Given the description of an element on the screen output the (x, y) to click on. 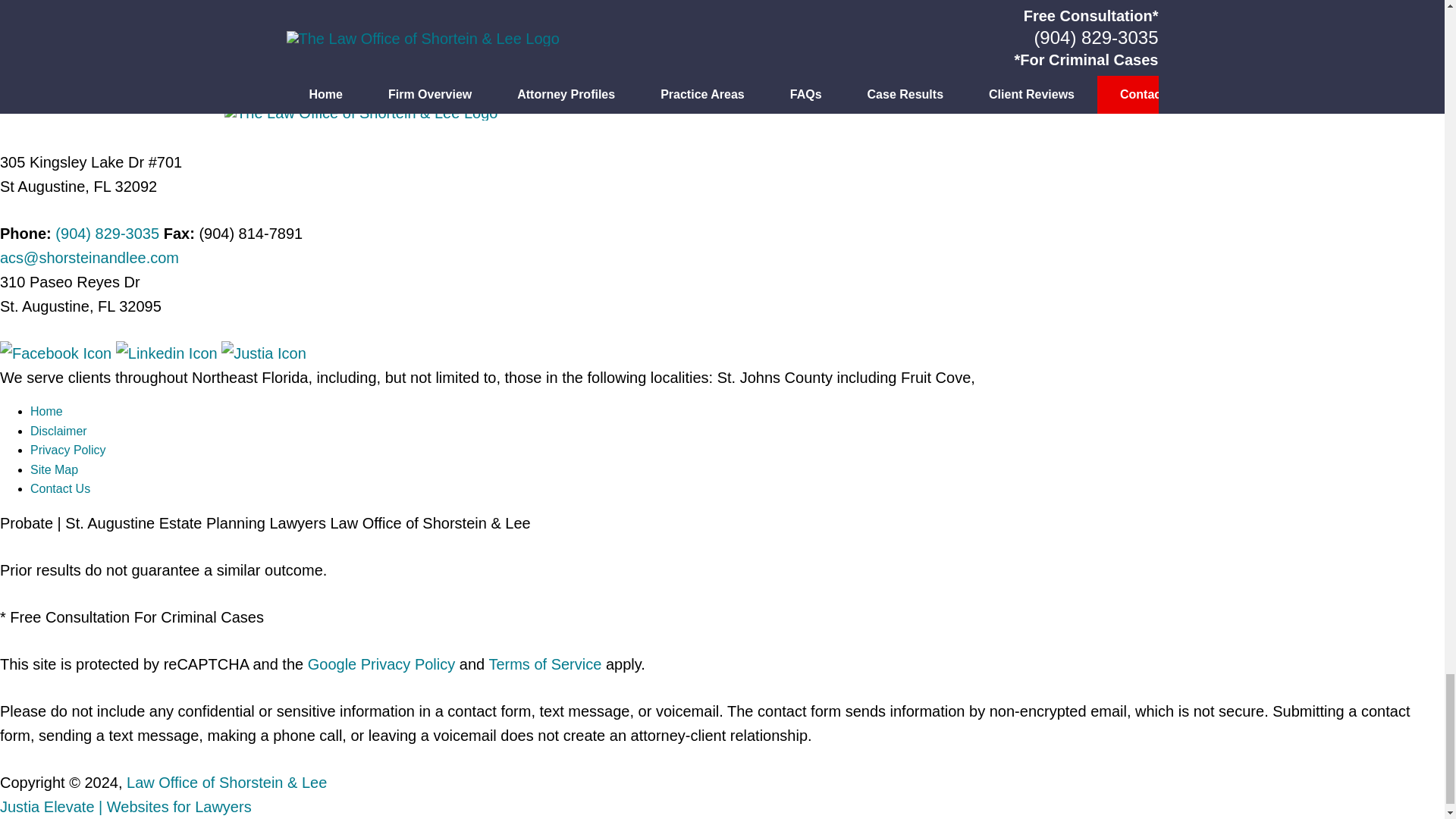
Facebook (58, 352)
Home (46, 410)
Contact Us (60, 488)
Terms of Service (544, 664)
Google Privacy Policy (381, 664)
Linkedin (168, 352)
Disclaimer (58, 431)
Privacy Policy (68, 449)
Site Map (54, 469)
Justia (263, 352)
